Given the description of an element on the screen output the (x, y) to click on. 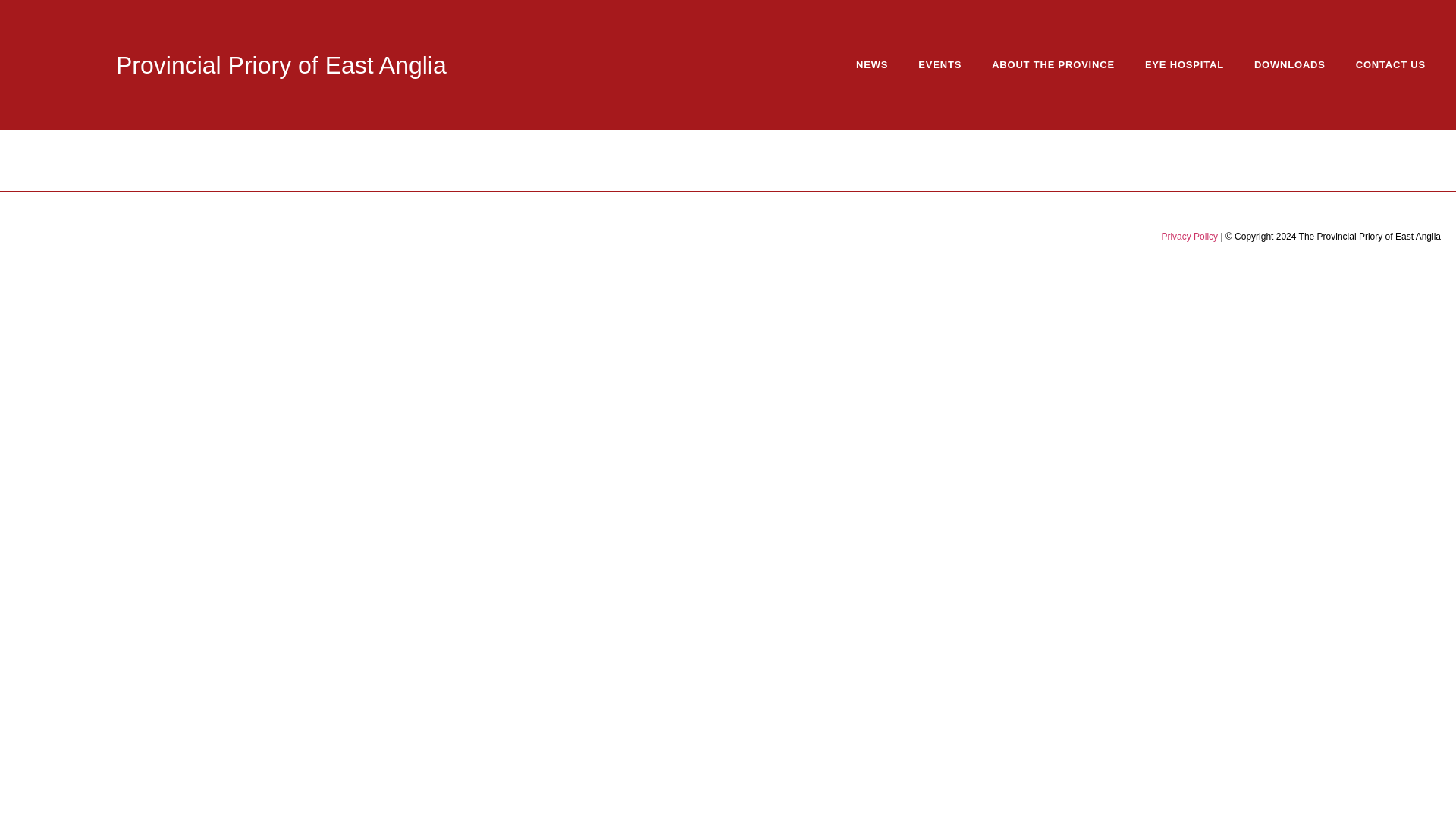
NEWS (871, 64)
Provincial Priory of East Anglia (281, 64)
DOWNLOADS (1289, 64)
Privacy Policy (1188, 235)
CONTACT US (1390, 64)
EVENTS (939, 64)
EYE HOSPITAL (1184, 64)
ABOUT THE PROVINCE (1052, 64)
